Given the description of an element on the screen output the (x, y) to click on. 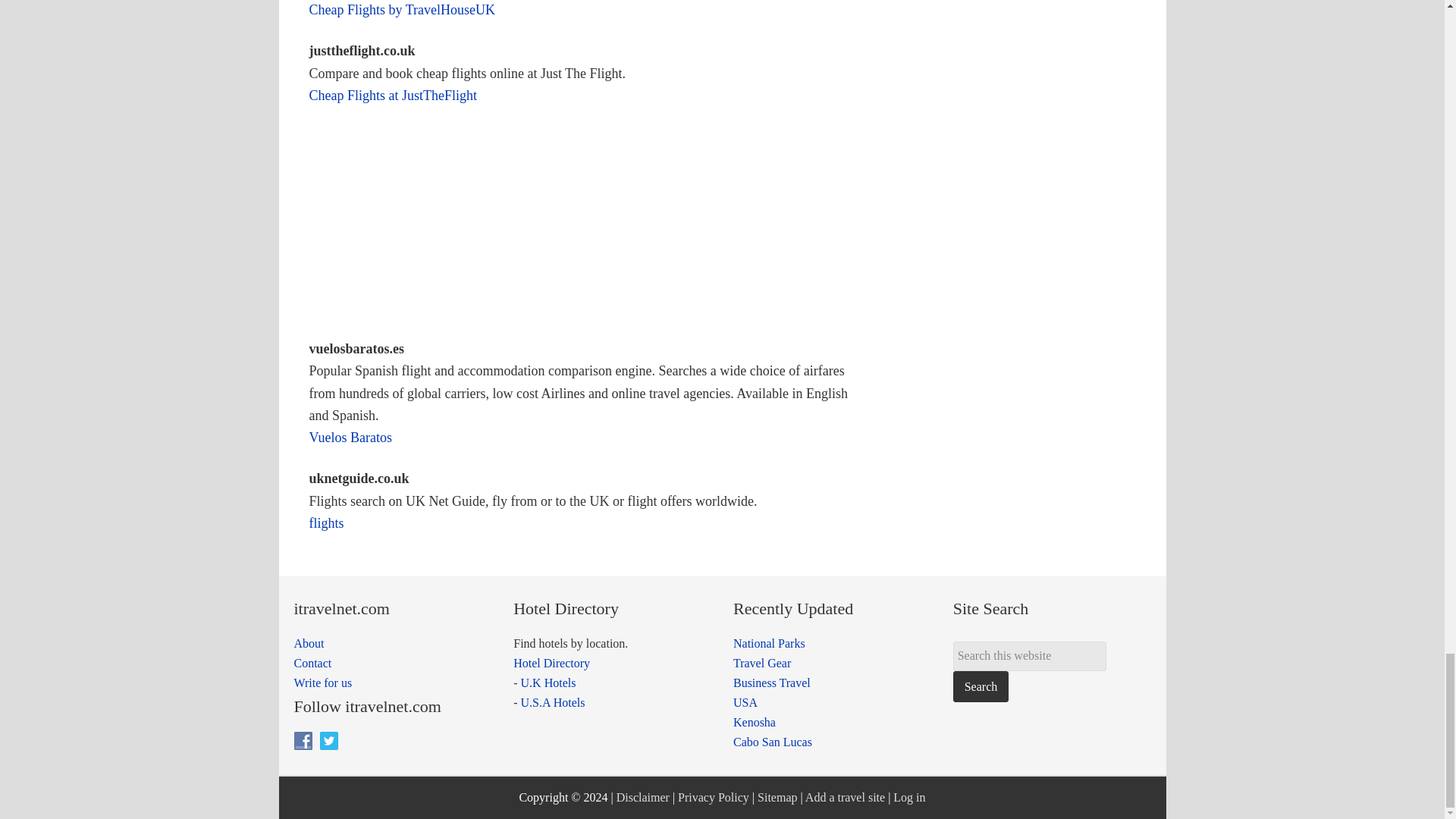
Follow Us on Twitter (328, 741)
Search (981, 685)
Follow Us on Facebook (303, 741)
Search (981, 685)
